Given the description of an element on the screen output the (x, y) to click on. 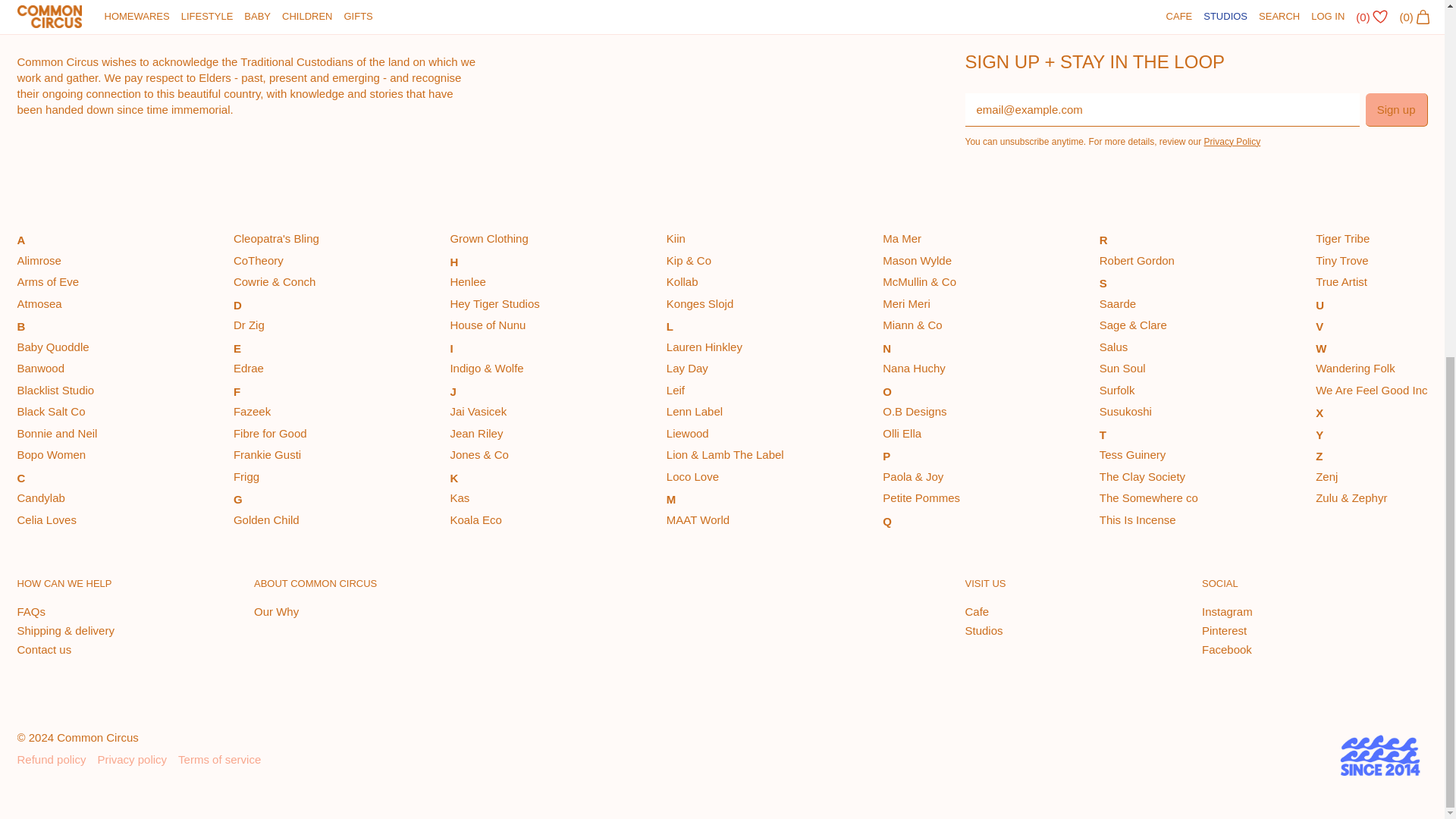
Privacy Policy (1232, 141)
